Given the description of an element on the screen output the (x, y) to click on. 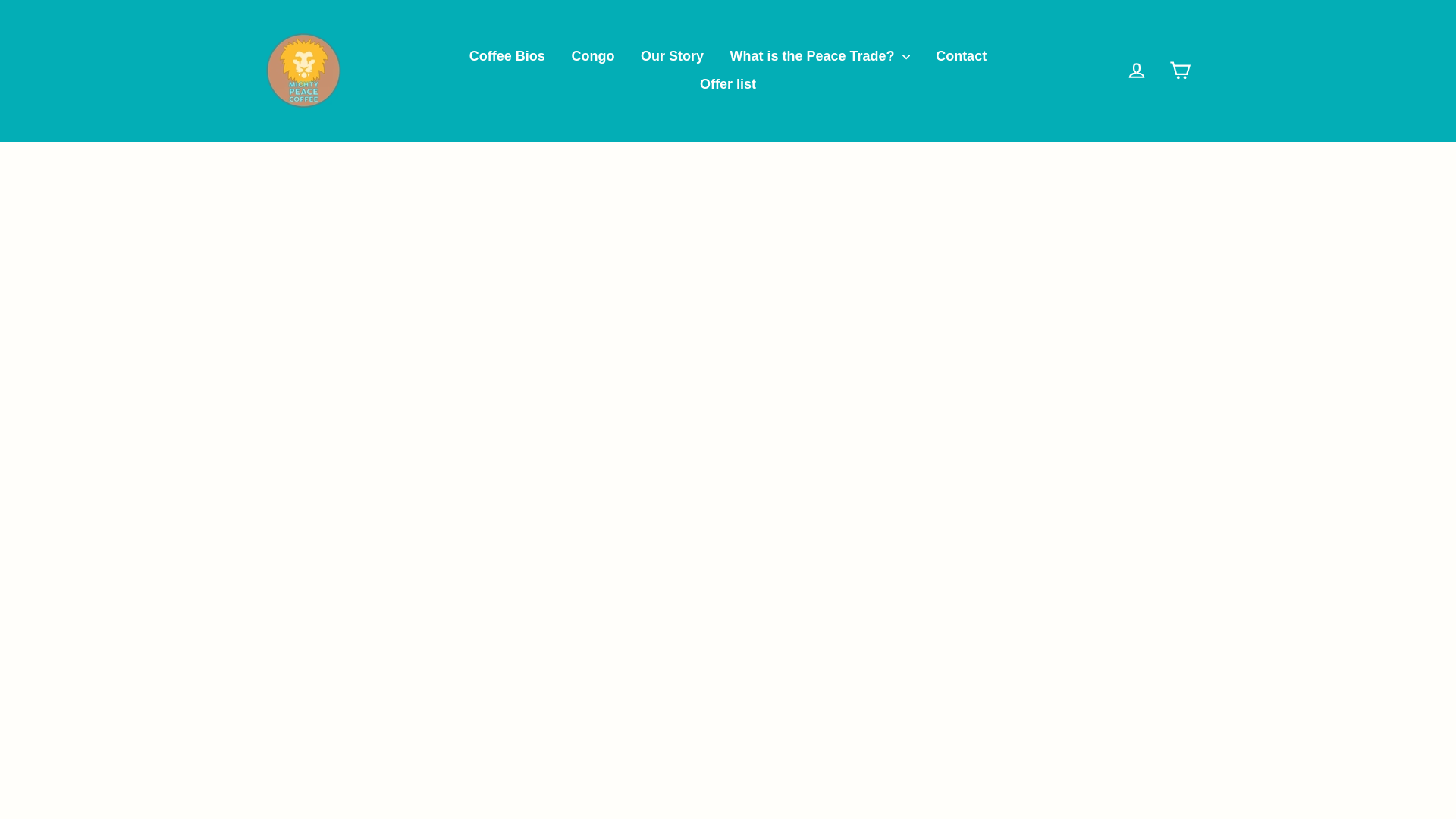
Offer list (727, 84)
Coffee Bios (507, 57)
Log in (1136, 70)
Contact (960, 57)
Congo (592, 57)
What is the Peace Trade? (820, 57)
Cart (1179, 70)
Our Story (671, 57)
